Given the description of an element on the screen output the (x, y) to click on. 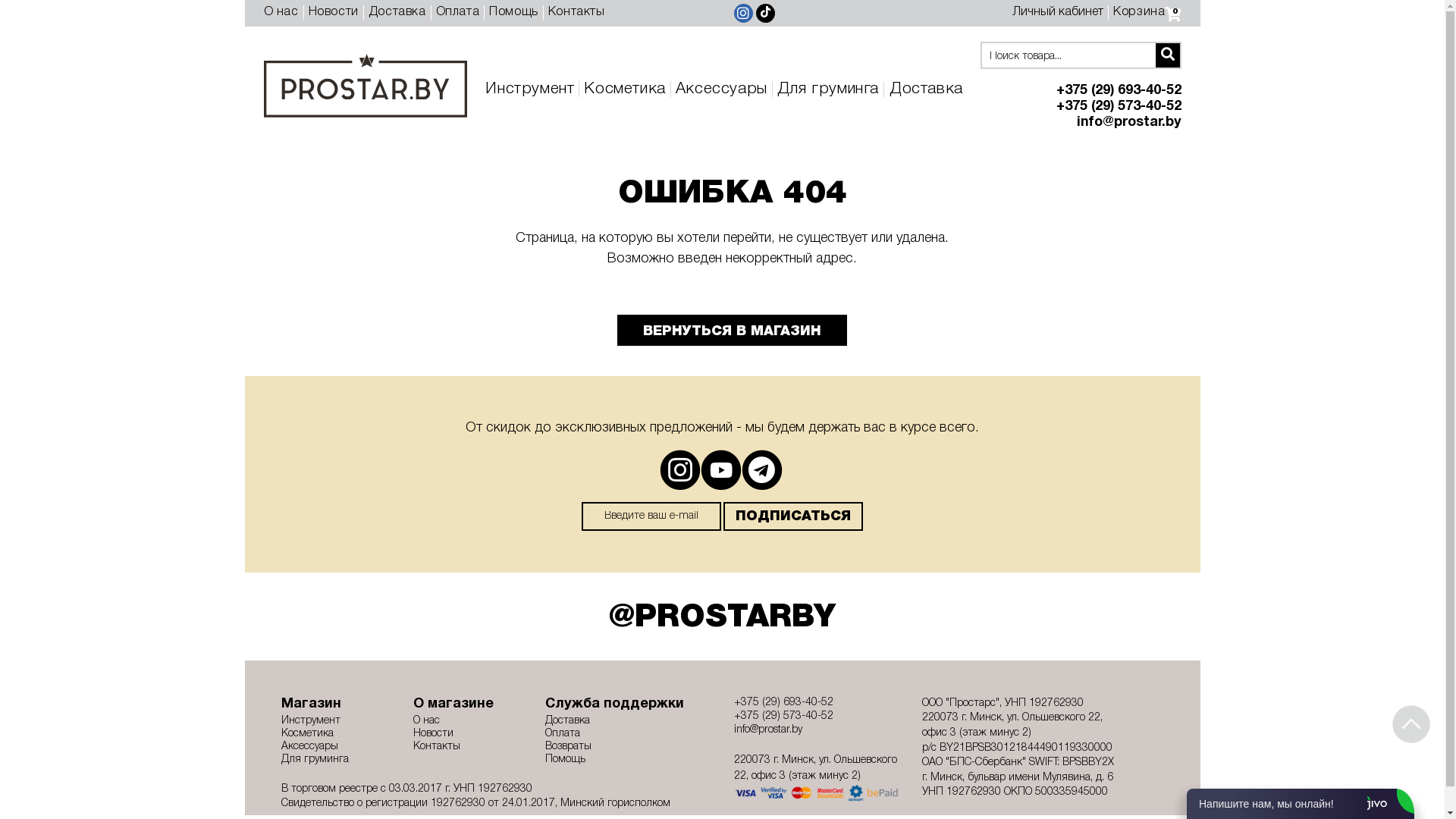
Pay_Card_2.png Element type: hover (817, 792)
+375 (29) 693-40-52 Element type: text (1097, 90)
+375 (29) 573-40-52 Element type: text (1097, 106)
info@prostar.by Element type: text (817, 730)
+375 (29) 573-40-52 Element type: text (817, 716)
info@prostar.by Element type: text (1097, 122)
+375 (29) 693-40-52 Element type: text (817, 702)
Logo_Prostar.by.png Element type: hover (365, 85)
